Given the description of an element on the screen output the (x, y) to click on. 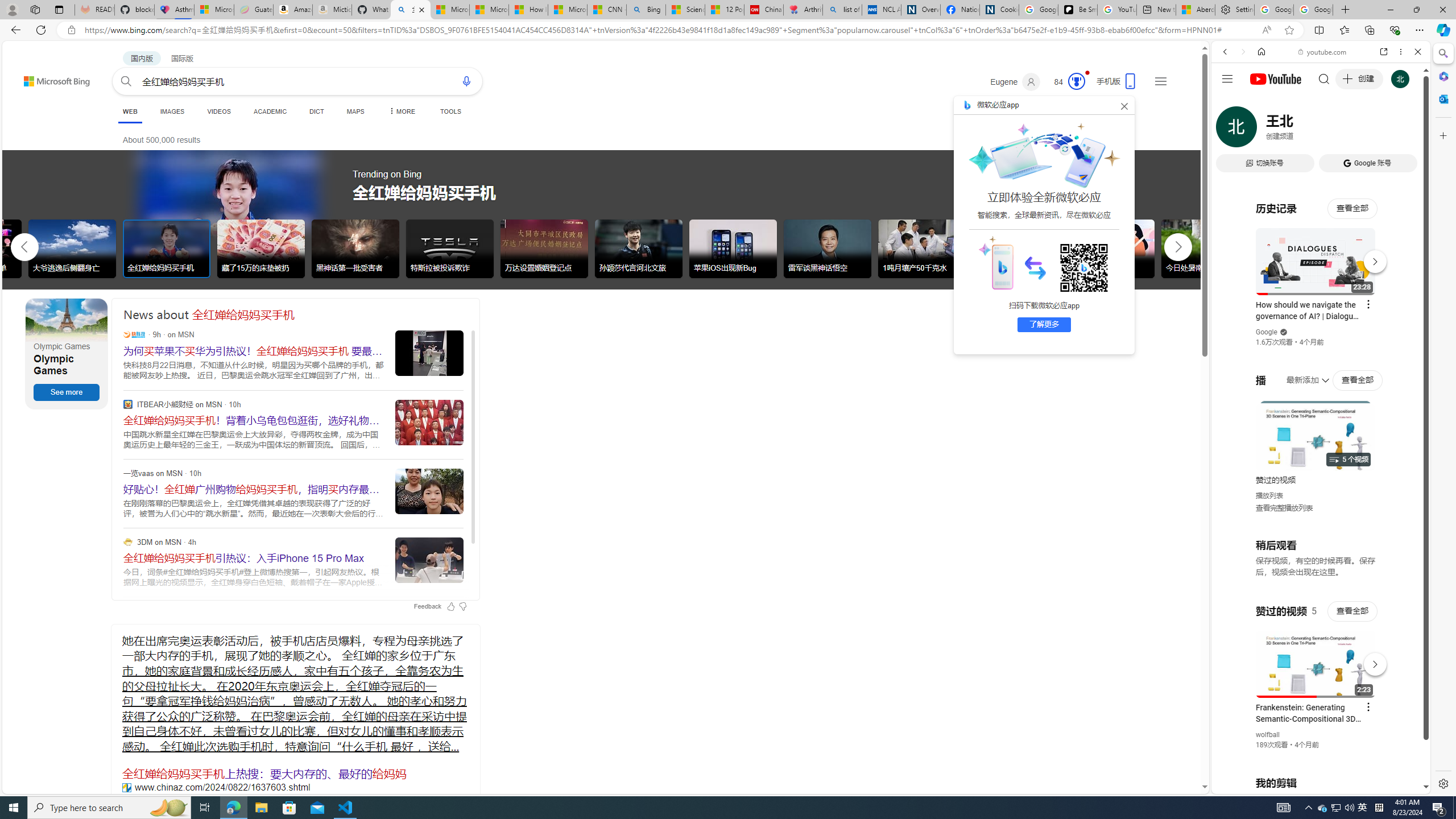
Search Filter, WEB (1230, 129)
Microsoft 365 (1442, 76)
Personal Profile (12, 9)
Settings and more (Alt+F) (1419, 29)
DICT (316, 111)
DICT (316, 111)
MAPS (355, 111)
AutomationID: tob_left_arrow (24, 246)
Search Filter, IMAGES (1262, 129)
